Given the description of an element on the screen output the (x, y) to click on. 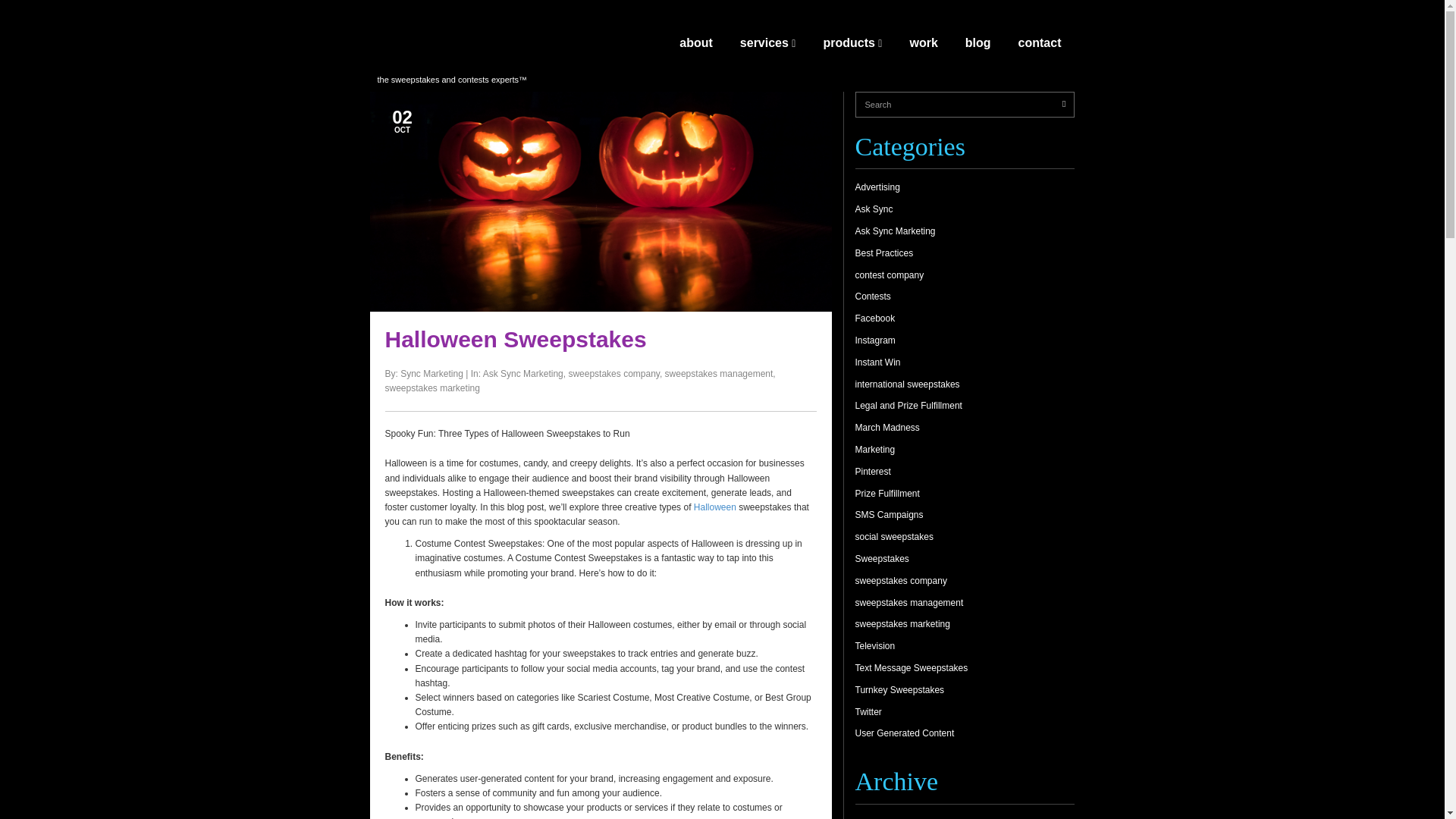
View all posts in sweepstakes management (719, 373)
View all posts in Ask Sync Marketing (523, 373)
Halloween Sweepstakes (515, 339)
View all posts in sweepstakes marketing (432, 388)
syncmarketing the sweepstakes and contest experts (453, 43)
services (767, 45)
View all posts in sweepstakes company (613, 373)
products (852, 45)
